Given the description of an element on the screen output the (x, y) to click on. 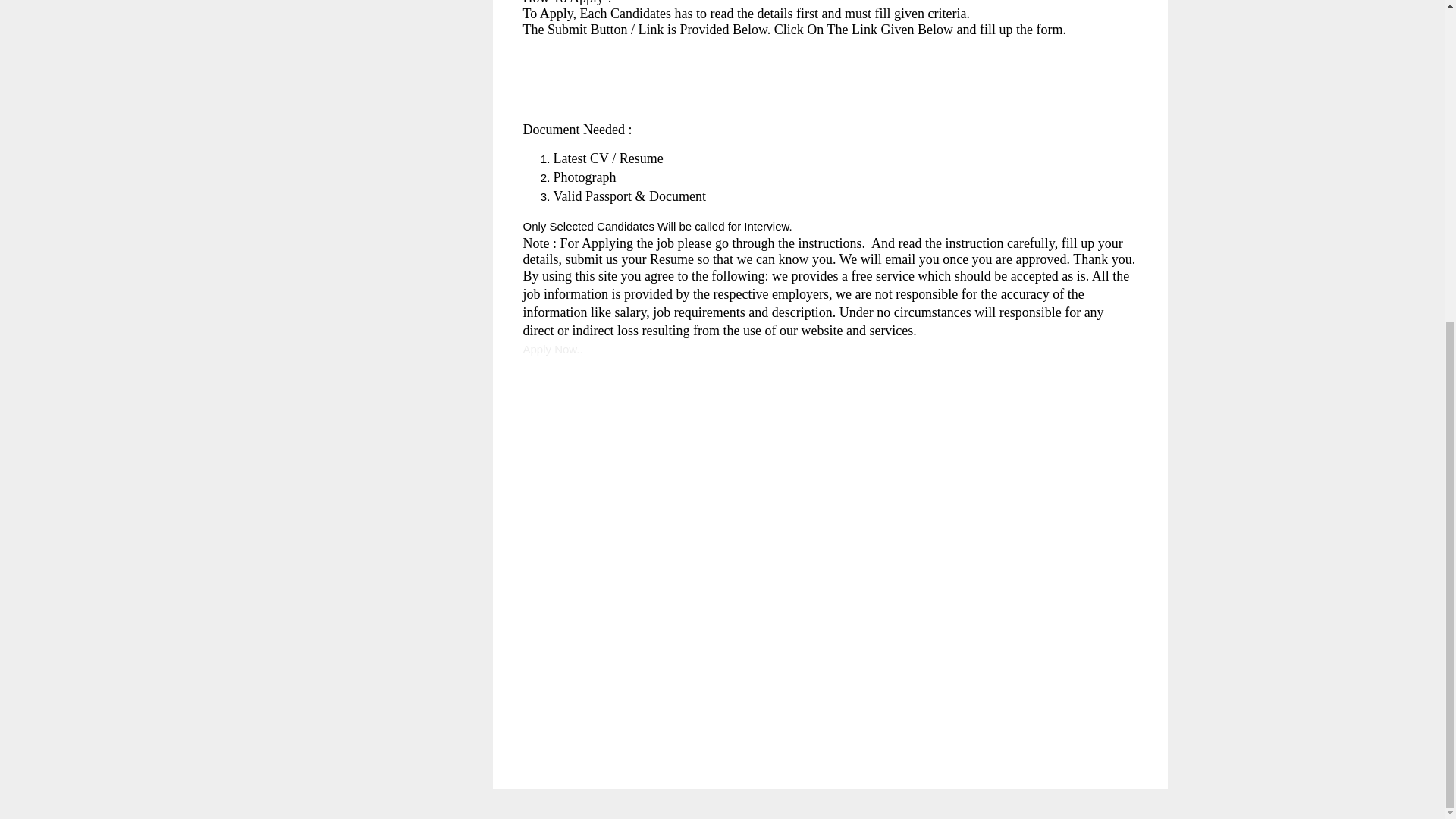
Apply Now.. (552, 348)
